Given the description of an element on the screen output the (x, y) to click on. 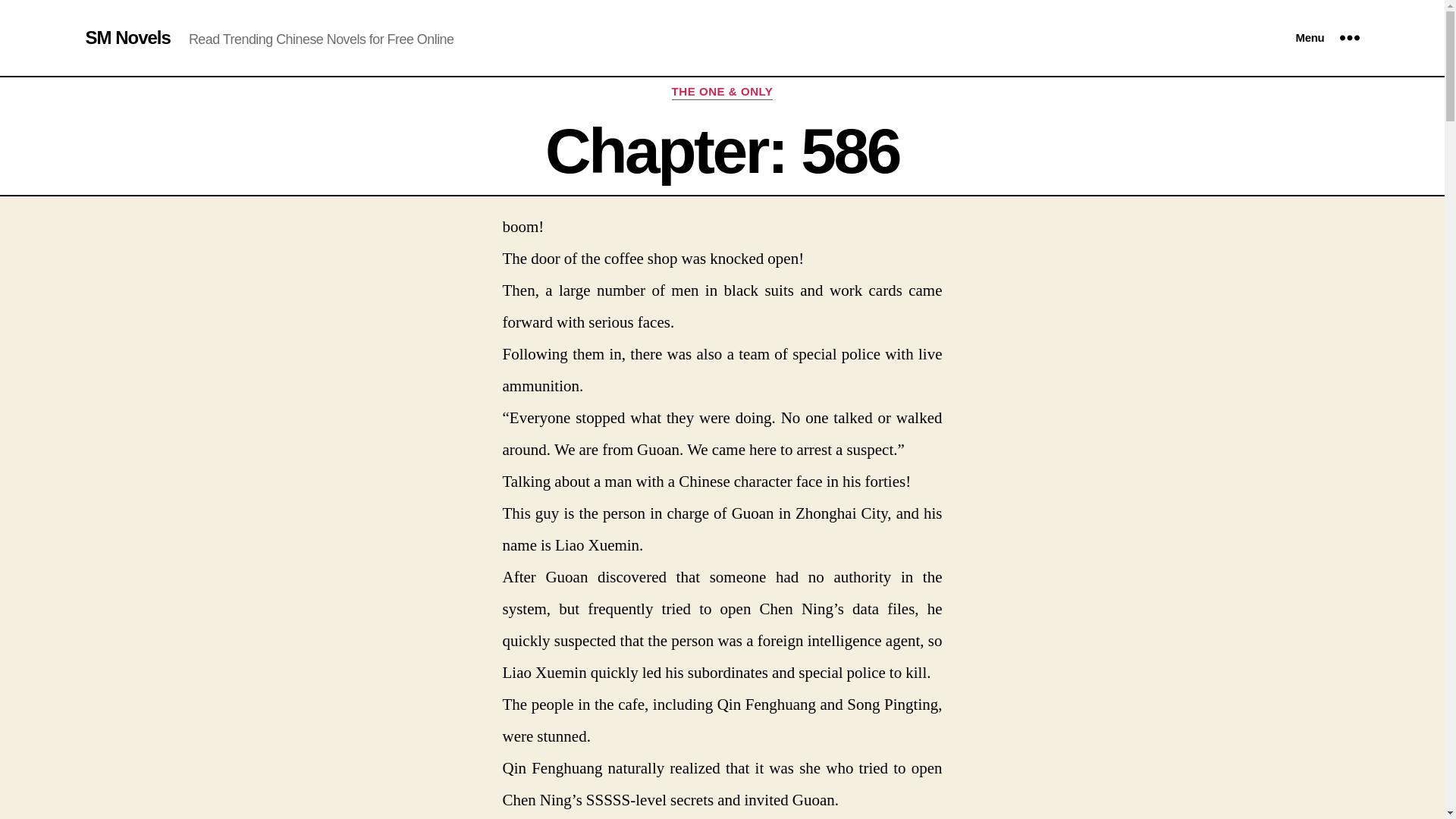
Menu (1327, 37)
SM Novels (127, 37)
